Given the description of an element on the screen output the (x, y) to click on. 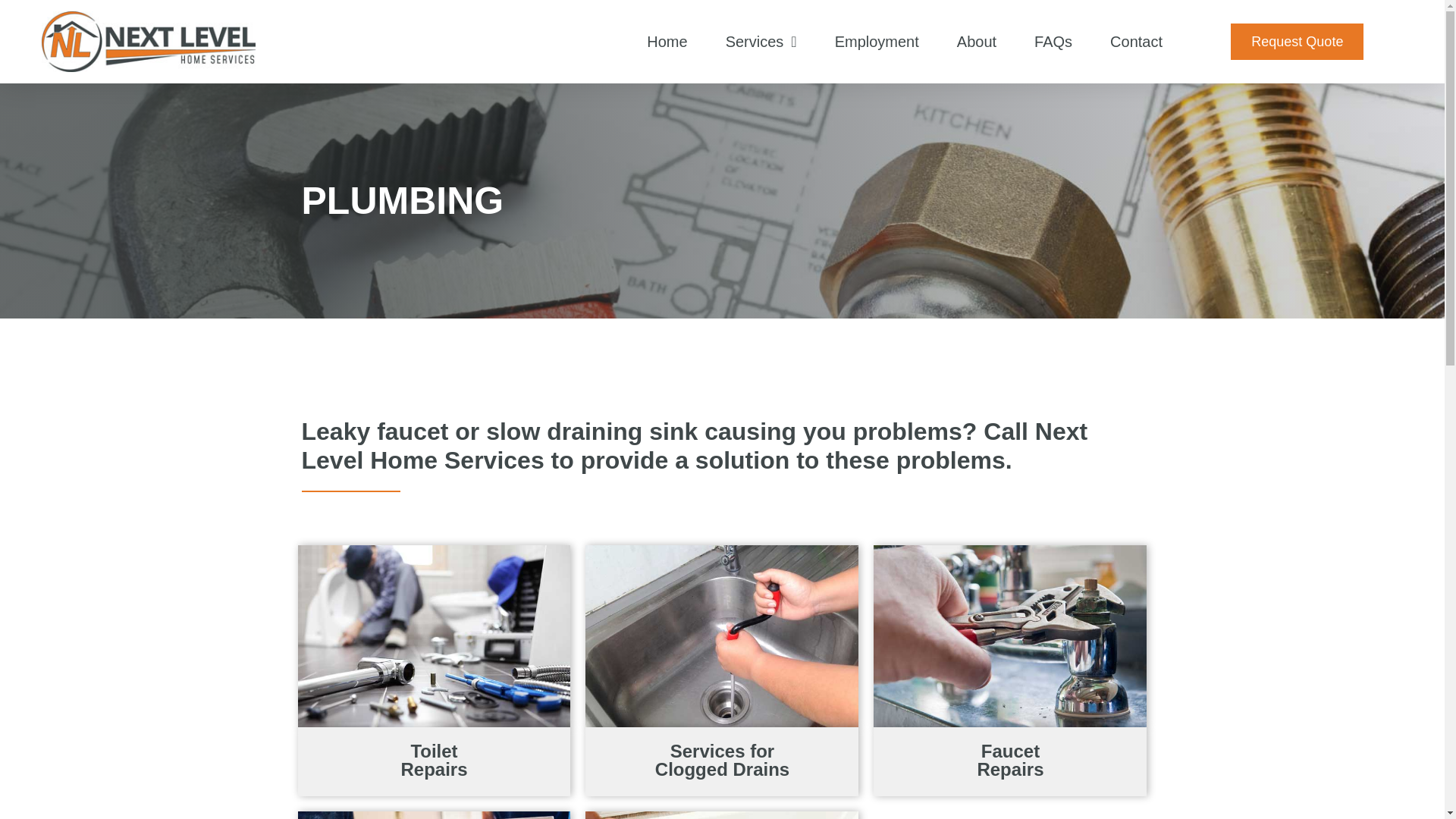
FAQs (1053, 41)
About (976, 41)
Employment (876, 41)
Services (761, 41)
Contact (1136, 41)
Home (666, 41)
Request Quote (1296, 41)
